Given the description of an element on the screen output the (x, y) to click on. 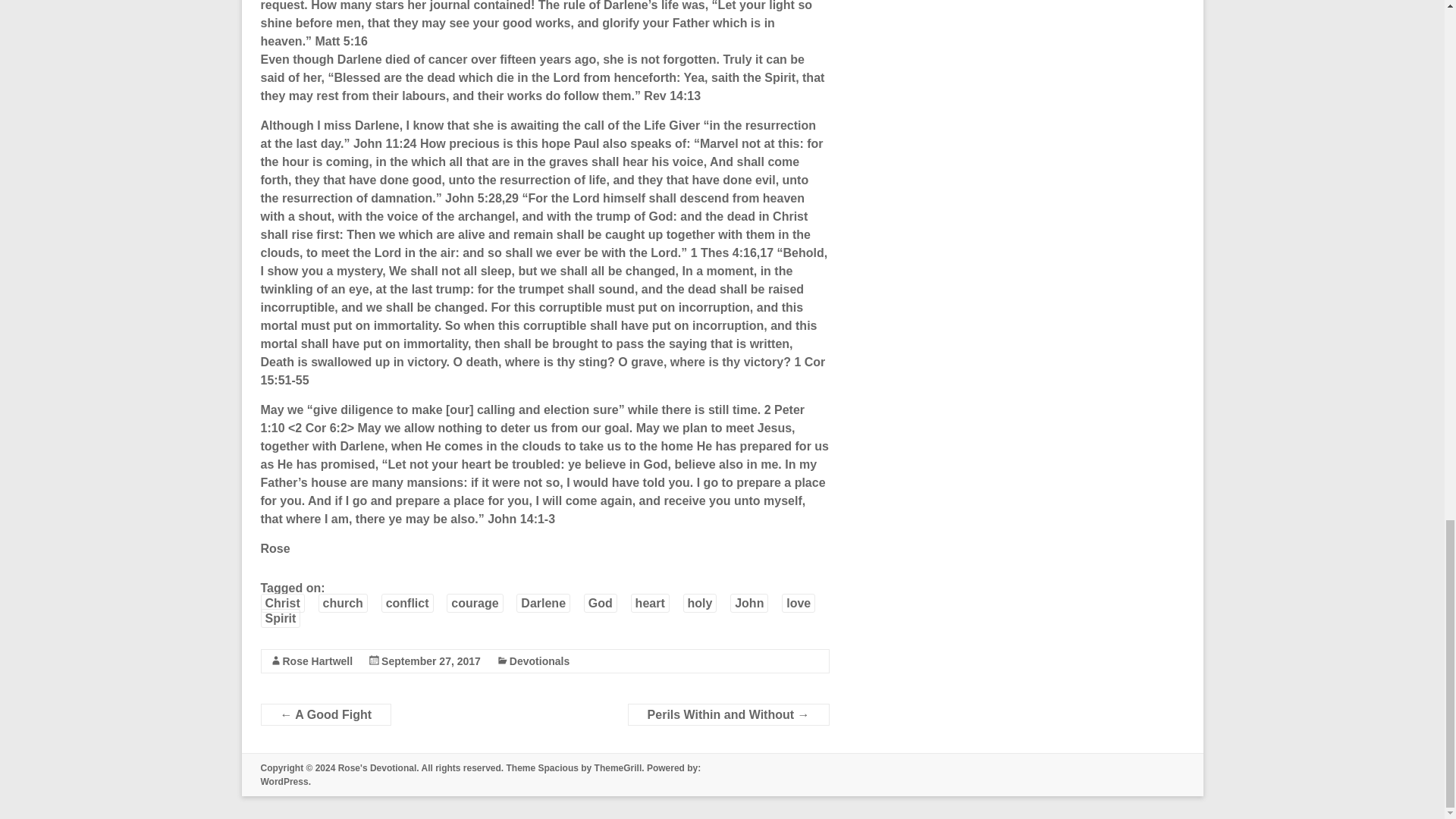
love (798, 602)
Darlene (543, 602)
Devotionals (539, 661)
John (749, 602)
church (343, 602)
9:49 am (430, 661)
holy (699, 602)
September 27, 2017 (430, 661)
WordPress (284, 781)
Rose's Devotional (376, 767)
Christ (282, 602)
courage (474, 602)
conflict (407, 602)
WordPress (284, 781)
heart (649, 602)
